Given the description of an element on the screen output the (x, y) to click on. 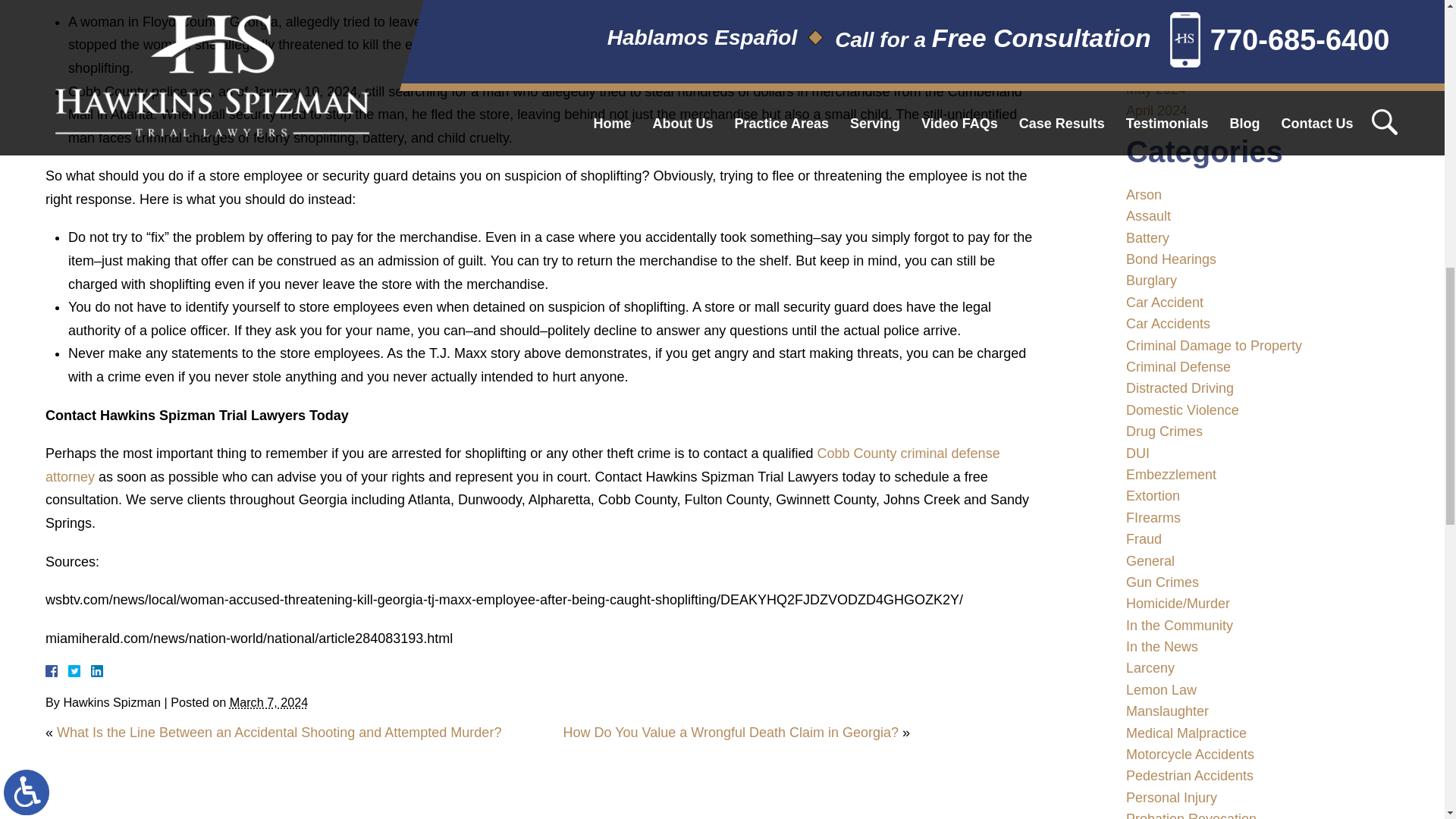
LinkedIn (90, 671)
2024-03-07T03:00:28-0800 (268, 702)
Facebook (69, 671)
Twitter (80, 671)
